Given the description of an element on the screen output the (x, y) to click on. 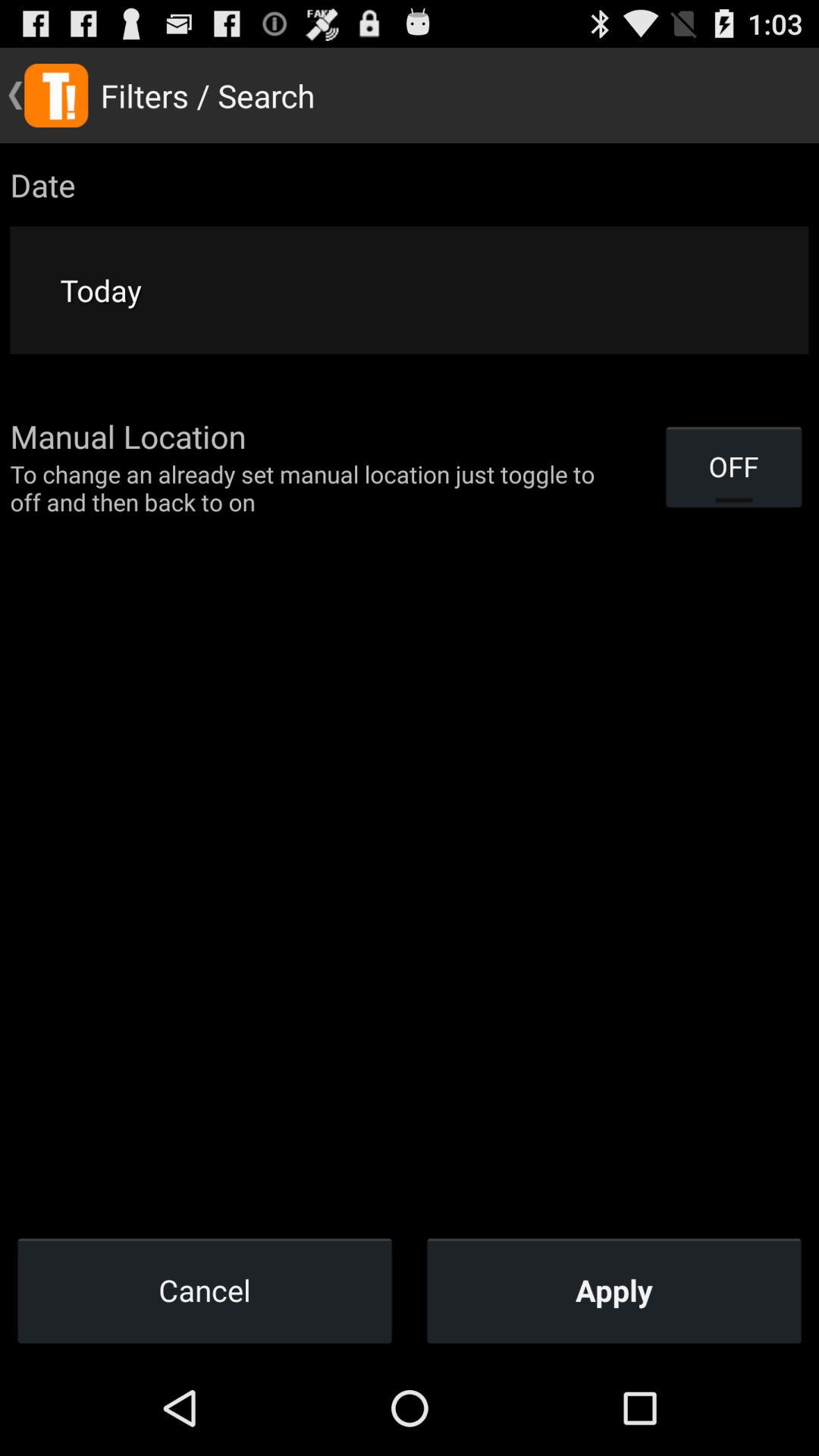
choose the item at the bottom right corner (613, 1290)
